Given the description of an element on the screen output the (x, y) to click on. 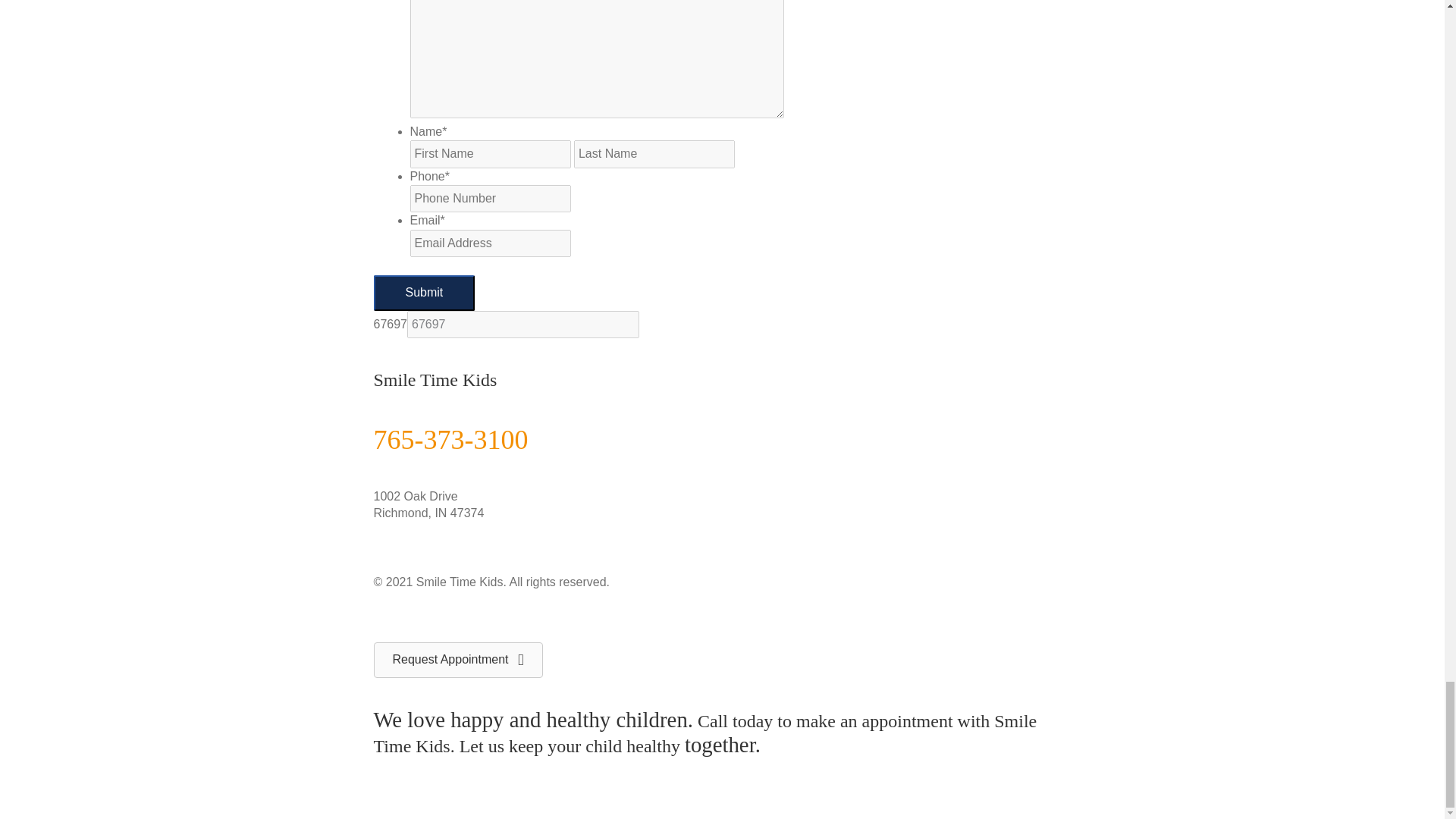
Submit (423, 292)
765-373-3100 (449, 440)
67697 (523, 324)
